Given the description of an element on the screen output the (x, y) to click on. 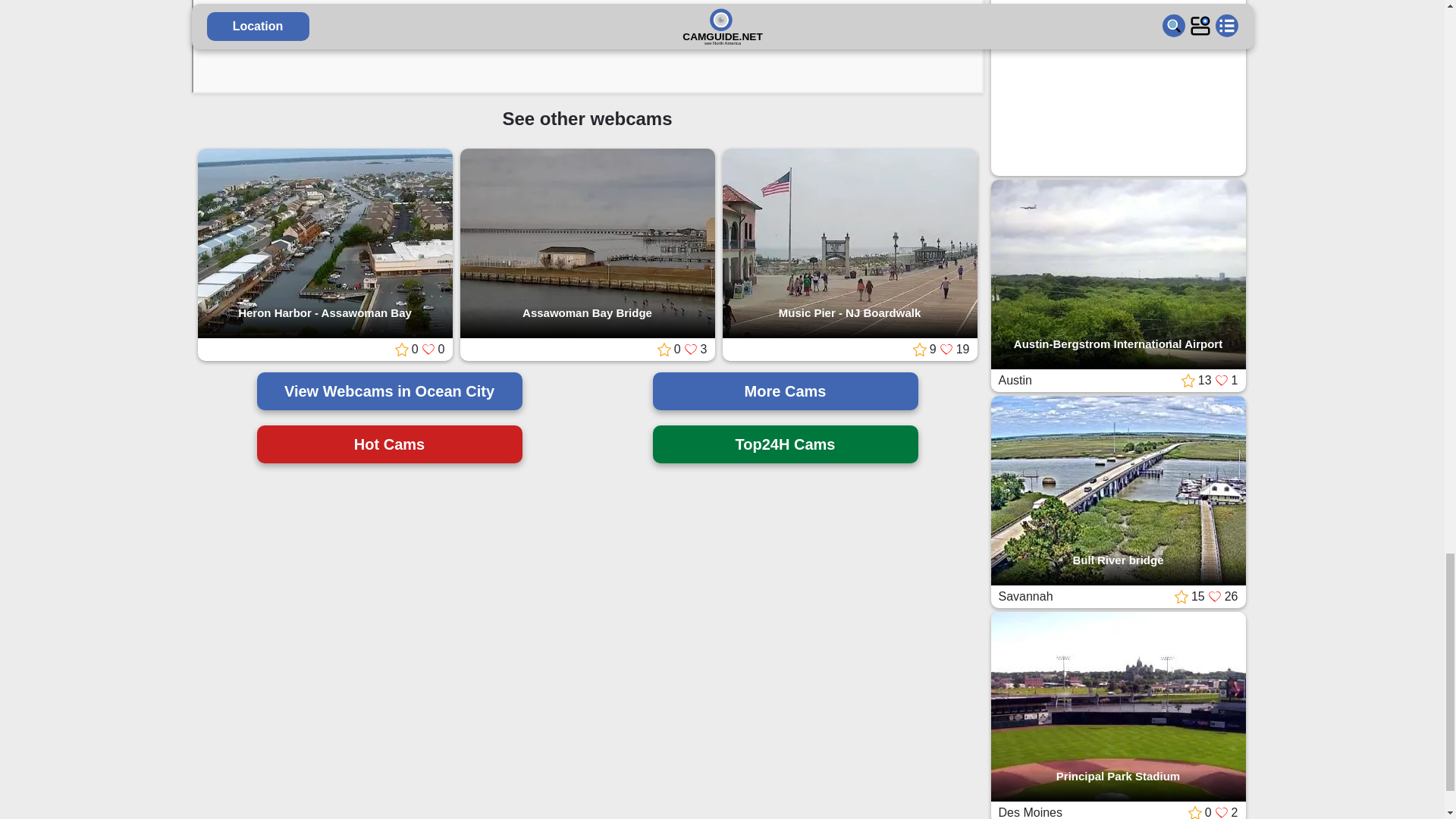
Top24H Cams (784, 444)
Assawoman Bay Bridge (587, 244)
See Music Pier - NJ Boardwalk (849, 244)
Heron Harbor - Assawoman Bay (323, 244)
View Webcams in Ocean City (388, 391)
More Cams (784, 391)
See Assawoman Bay Bridge (587, 244)
Music Pier - NJ Boardwalk (849, 244)
Hot Cams (388, 444)
See Heron Harbor - Assawoman Bay (323, 244)
